Given the description of an element on the screen output the (x, y) to click on. 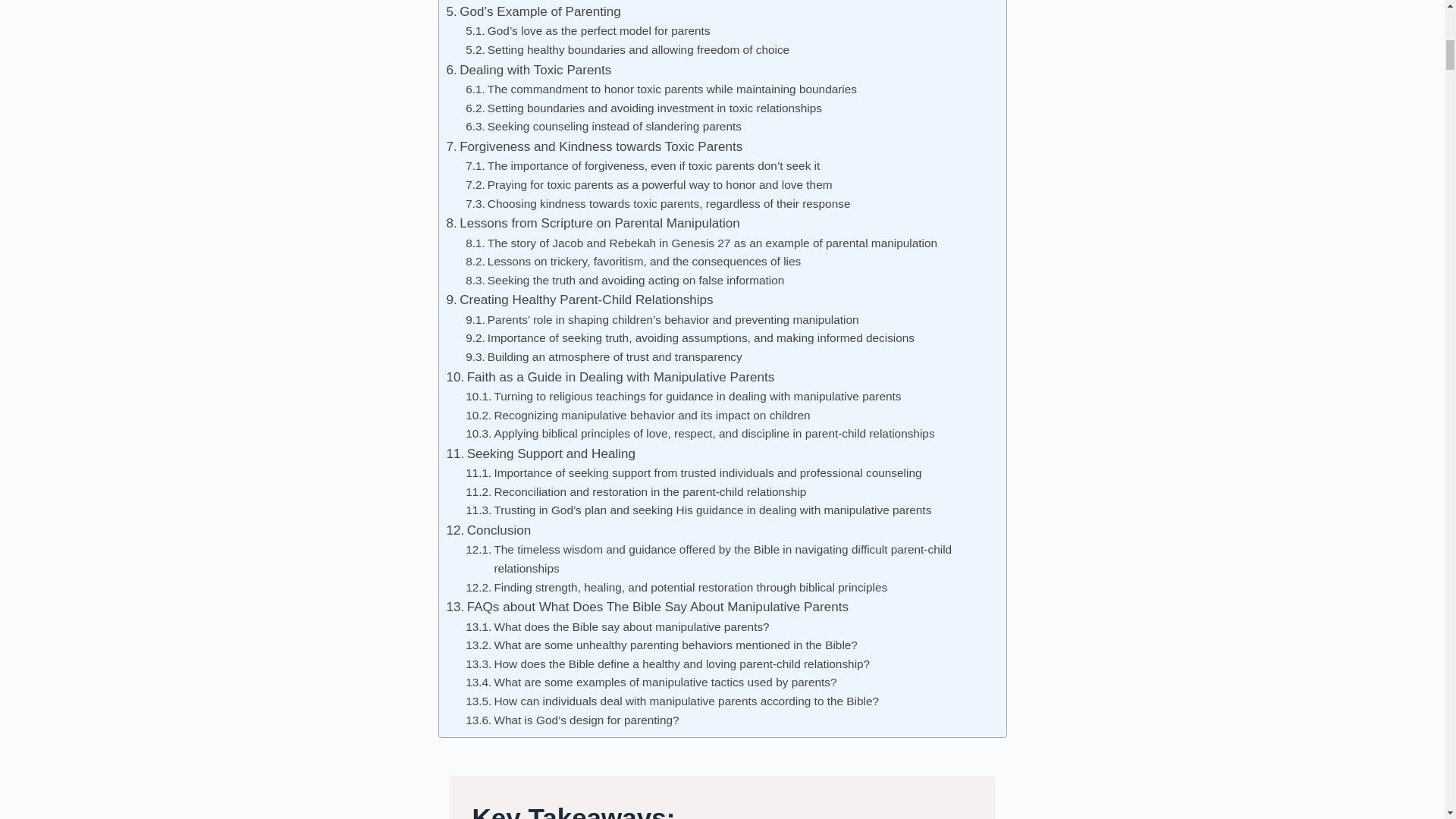
Forgiveness and Kindness towards Toxic Parents (593, 146)
Dealing with Toxic Parents (528, 69)
Seeking counseling instead of slandering parents (603, 126)
Setting healthy boundaries and allowing freedom of choice (627, 49)
